Given the description of an element on the screen output the (x, y) to click on. 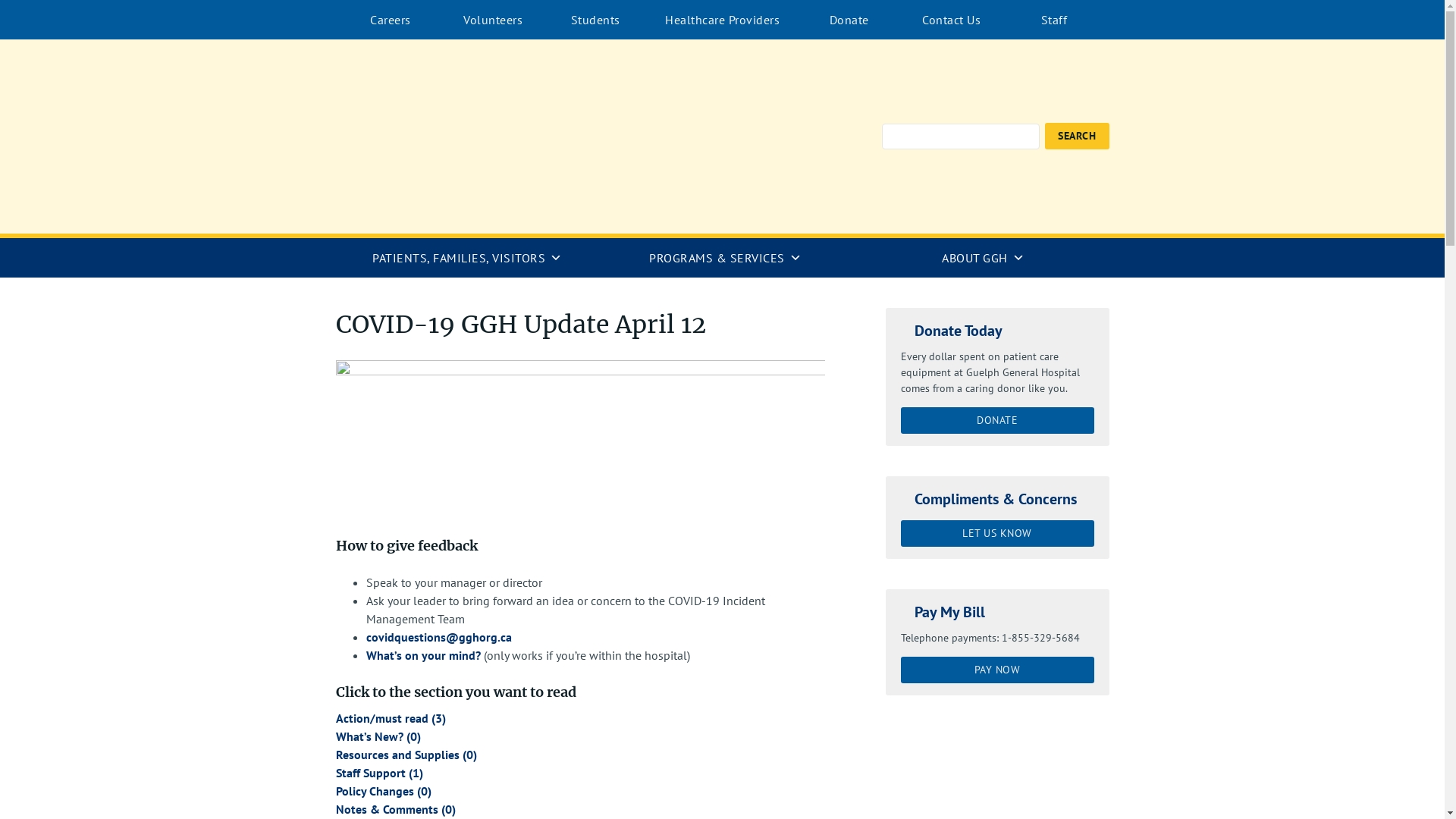
Careers Element type: text (390, 19)
Contact Us Element type: text (951, 19)
PAY NOW Element type: text (997, 669)
PROGRAMS & SERVICES Element type: text (721, 257)
DONATE Element type: text (997, 420)
SEARCH Element type: text (1076, 135)
ABOUT GGH Element type: text (979, 257)
Healthcare Providers Element type: text (721, 19)
Donate Element type: text (848, 19)
LET US KNOW Element type: text (997, 533)
PATIENTS, FAMILIES, VISITORS Element type: text (464, 257)
Action/must read (3) Element type: text (390, 717)
Resources and Supplies (0) Element type: text (405, 754)
Volunteers Element type: text (493, 19)
Staff Support (1) Element type: text (378, 772)
covidquestions@gghorg.ca Element type: text (438, 636)
Students Element type: text (595, 19)
Notes & Comments (0) Element type: text (395, 808)
Staff Element type: text (1053, 19)
Policy Changes (0) Element type: text (382, 790)
